Given the description of an element on the screen output the (x, y) to click on. 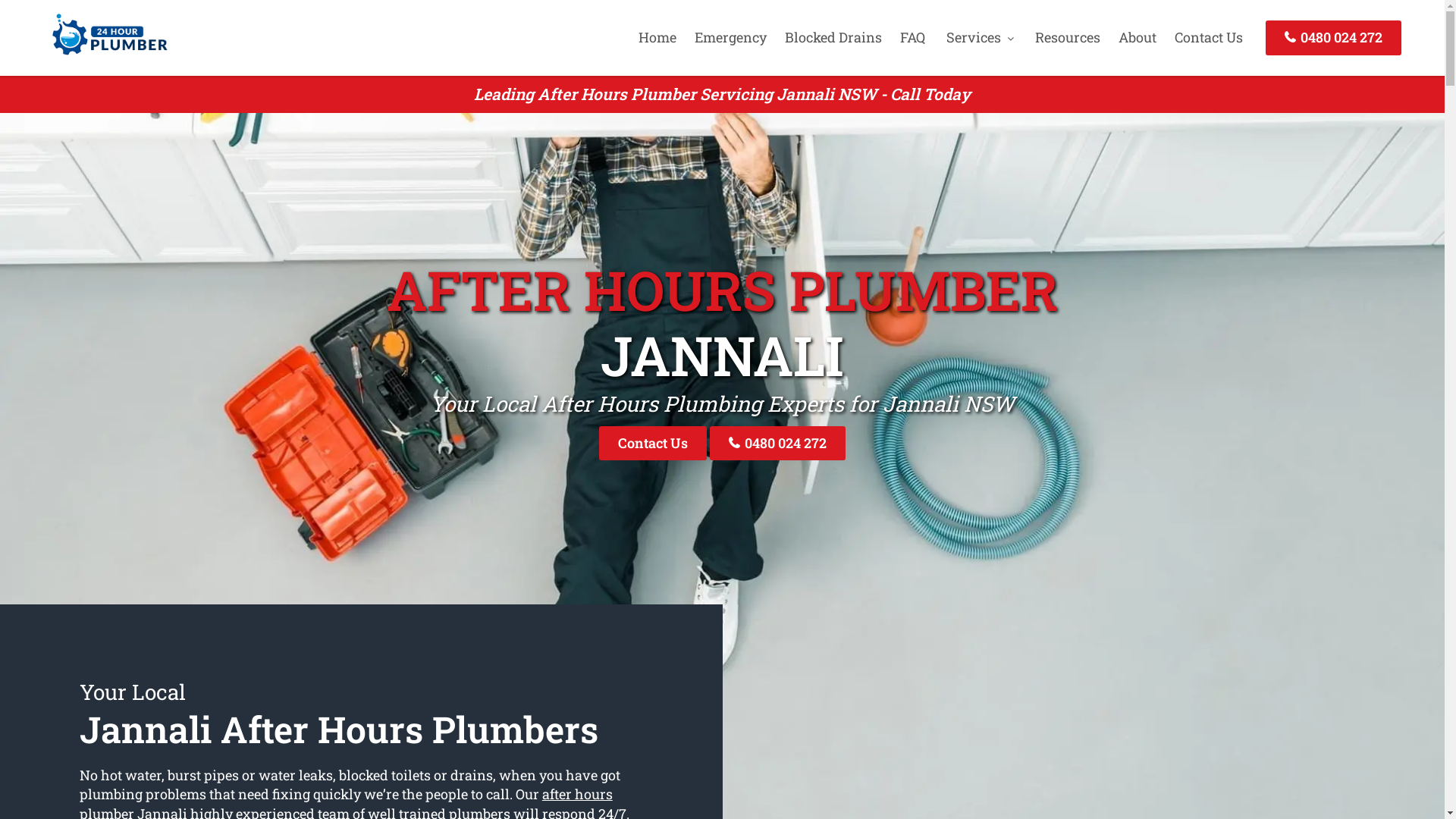
Resources Element type: text (1067, 37)
Home Element type: text (657, 37)
Blocked Drains Element type: text (833, 37)
About Element type: text (1137, 37)
0480 024 272 Element type: text (1333, 37)
FAQ Element type: text (912, 37)
Contact Us Element type: text (652, 443)
Contact Us Element type: text (1208, 37)
24 Hour Plumber Element type: hover (105, 56)
Services Element type: text (979, 37)
Emergency Element type: text (730, 37)
0480 024 272 Element type: text (777, 443)
